Given the description of an element on the screen output the (x, y) to click on. 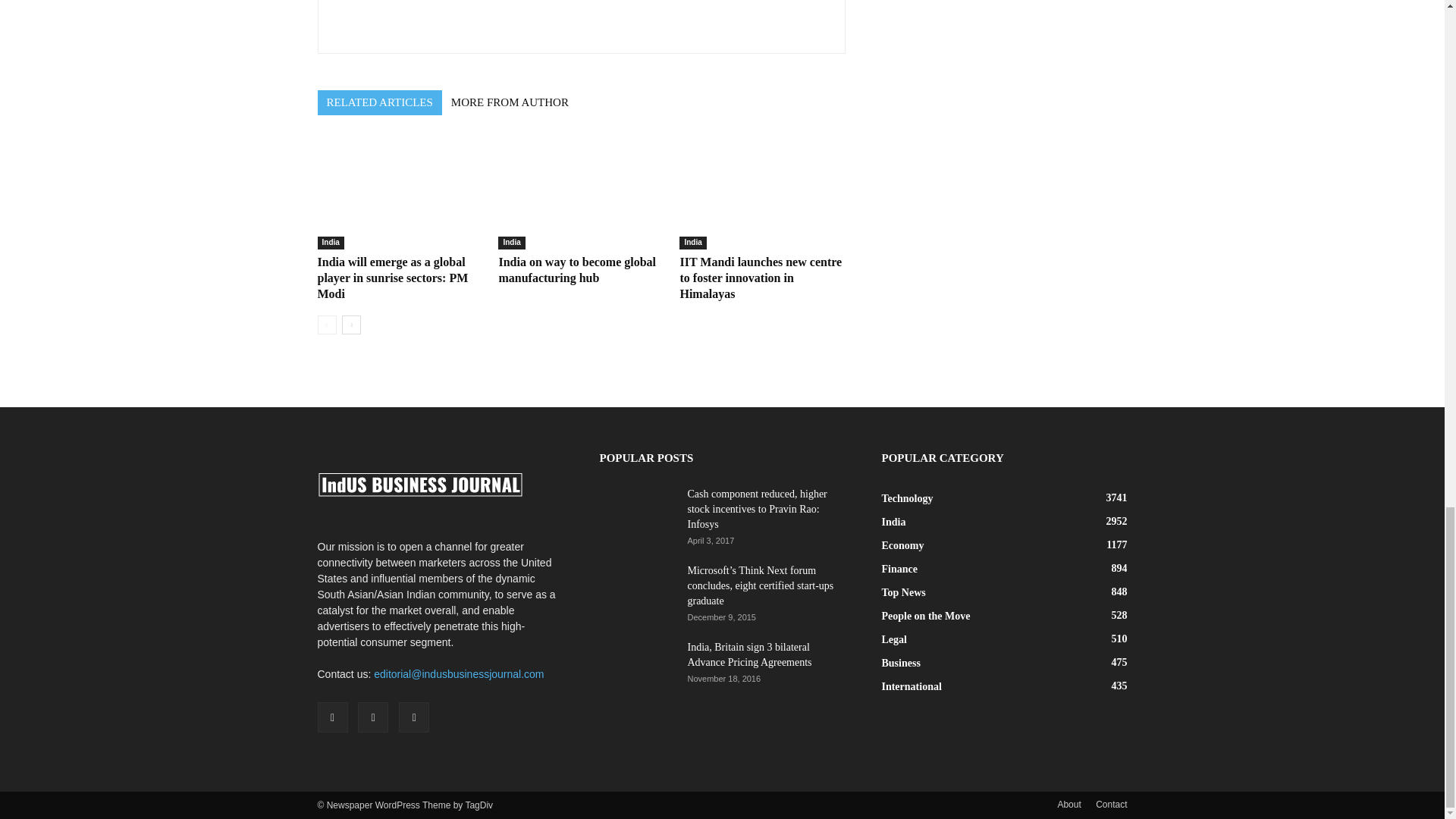
India on way to become global manufacturing hub (580, 192)
